Given the description of an element on the screen output the (x, y) to click on. 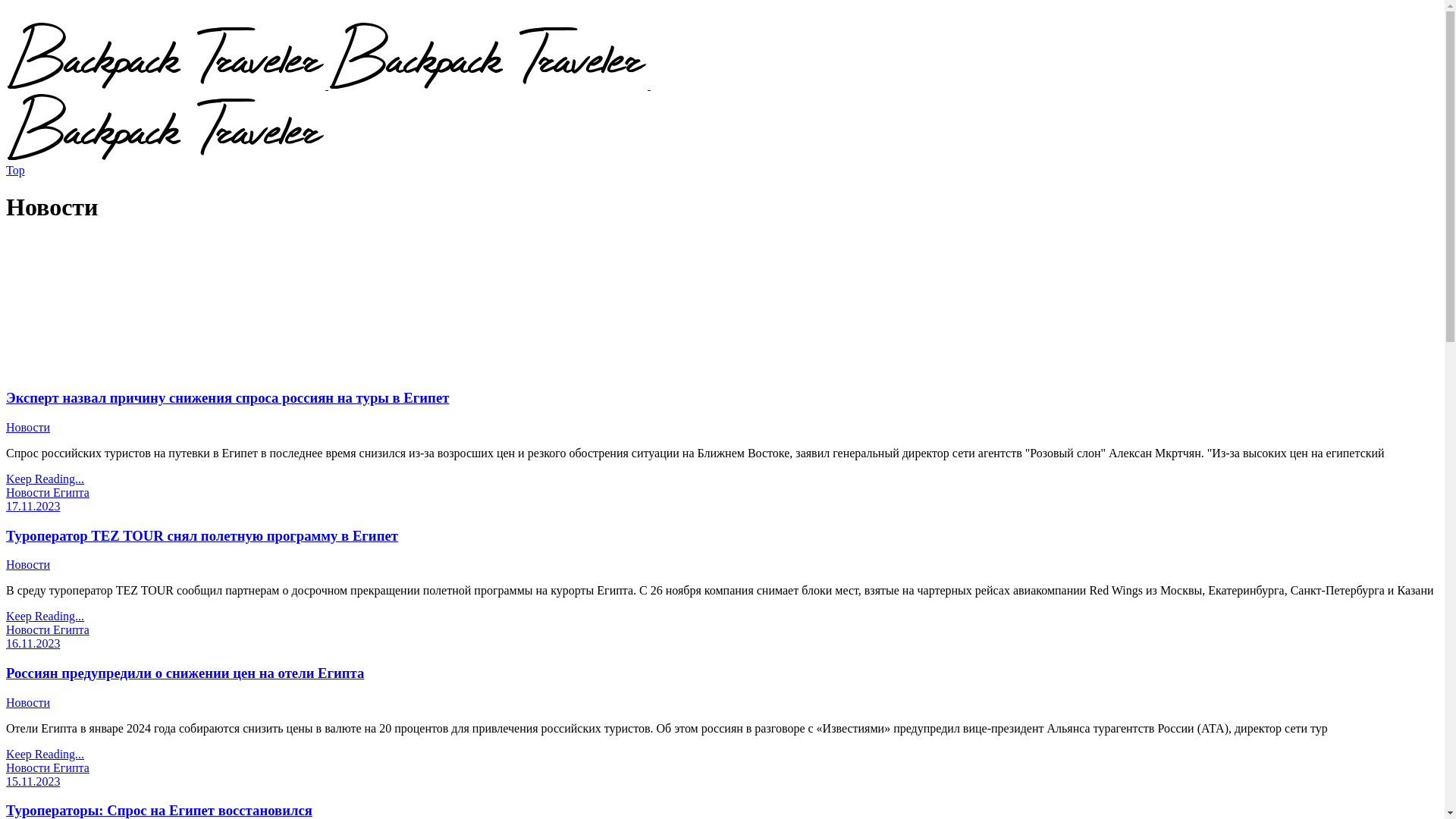
Top Element type: text (15, 169)
Keep Reading... Element type: text (45, 615)
15.11.2023 Element type: text (32, 781)
17.11.2023 Element type: text (32, 505)
Keep Reading... Element type: text (45, 753)
16.11.2023 Element type: text (32, 643)
Keep Reading... Element type: text (45, 478)
